Given the description of an element on the screen output the (x, y) to click on. 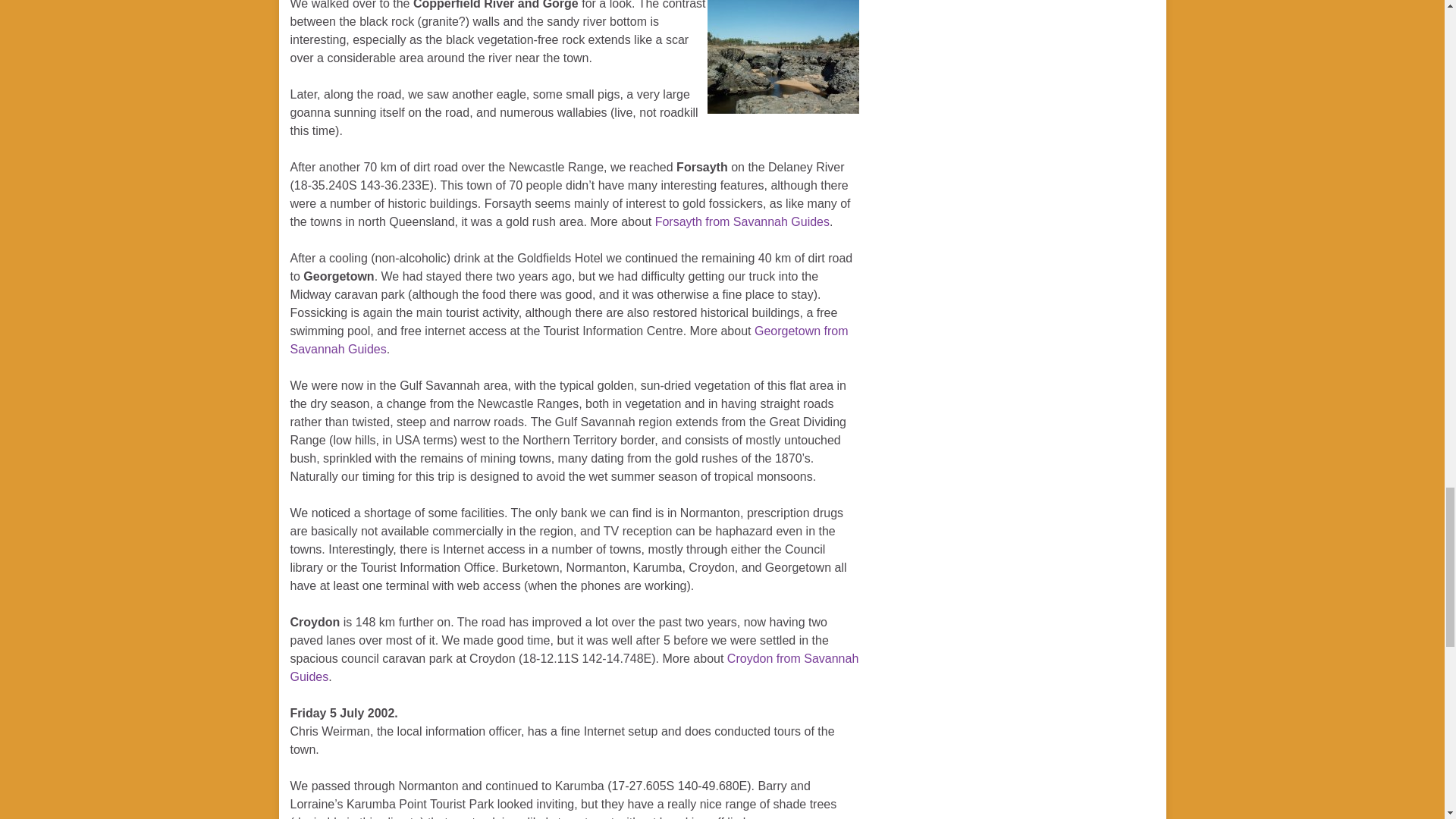
Copperfield Gorge (782, 56)
Georgetown from Savannah Guides (568, 339)
Croydon from Savannah Guides (574, 667)
Forsayth from Savannah Guides (742, 221)
